Given the description of an element on the screen output the (x, y) to click on. 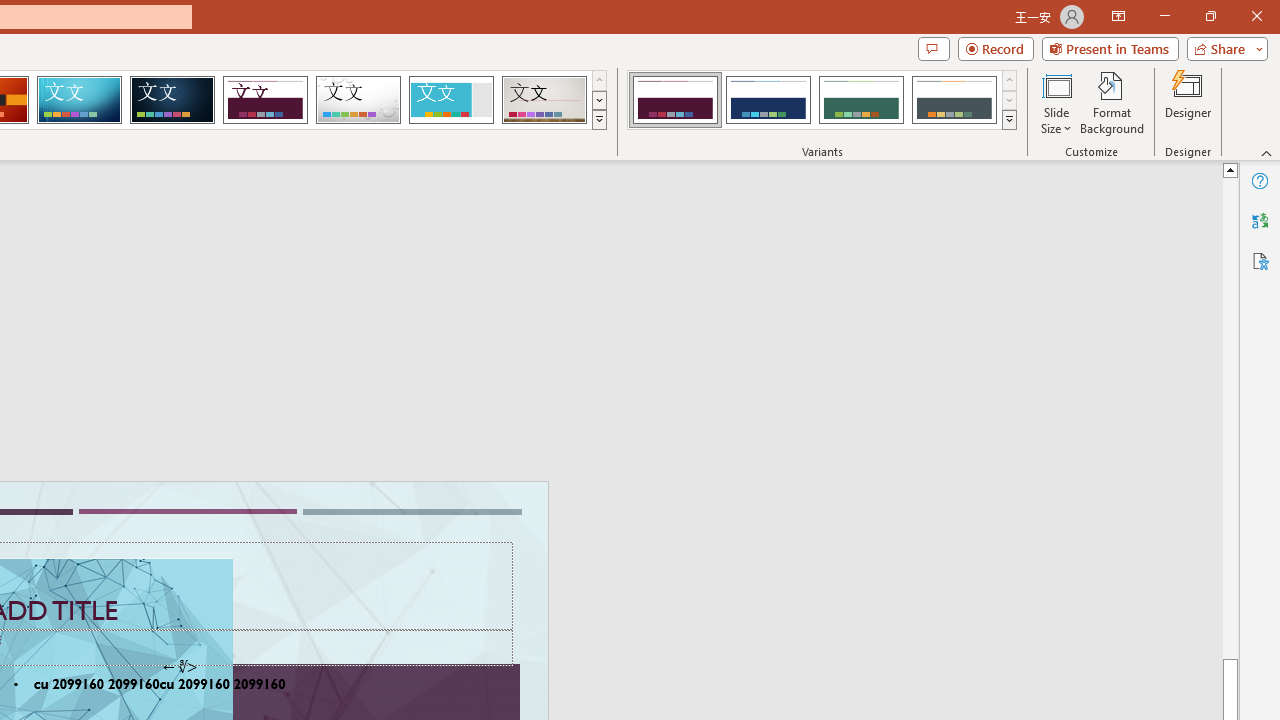
Droplet (358, 100)
Themes (598, 120)
TextBox 61 (186, 686)
Gallery (544, 100)
Format Background (1111, 102)
